Given the description of an element on the screen output the (x, y) to click on. 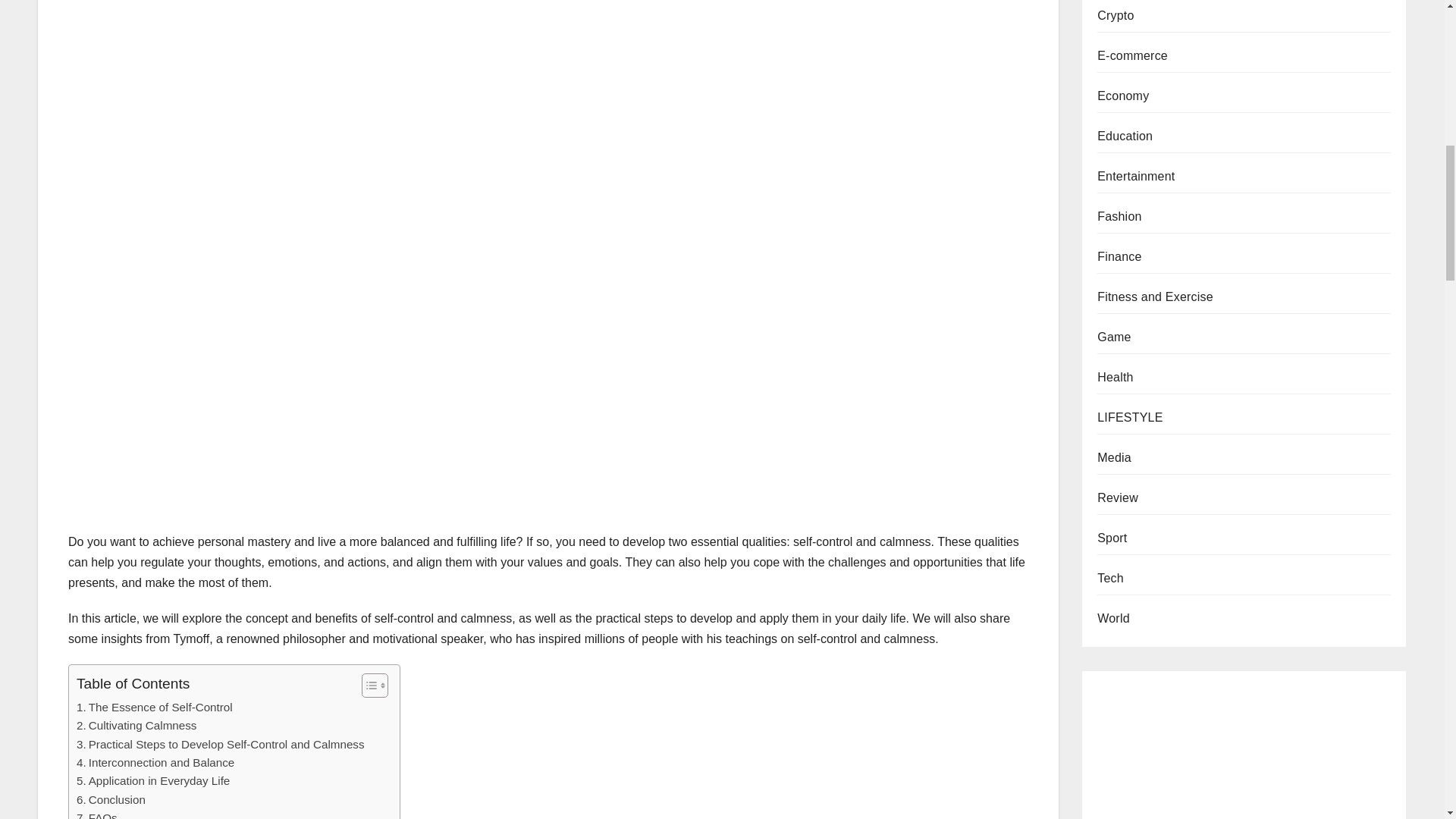
The Essence of Self-Control (154, 707)
Interconnection and Balance (155, 762)
Practical Steps to Develop Self-Control and Calmness (221, 744)
Application in Everyday Life (153, 781)
Conclusion (111, 800)
Cultivating Calmness (136, 725)
Interconnection and Balance (155, 762)
Practical Steps to Develop Self-Control and Calmness (221, 744)
Cultivating Calmness (136, 725)
Conclusion (111, 800)
